Given the description of an element on the screen output the (x, y) to click on. 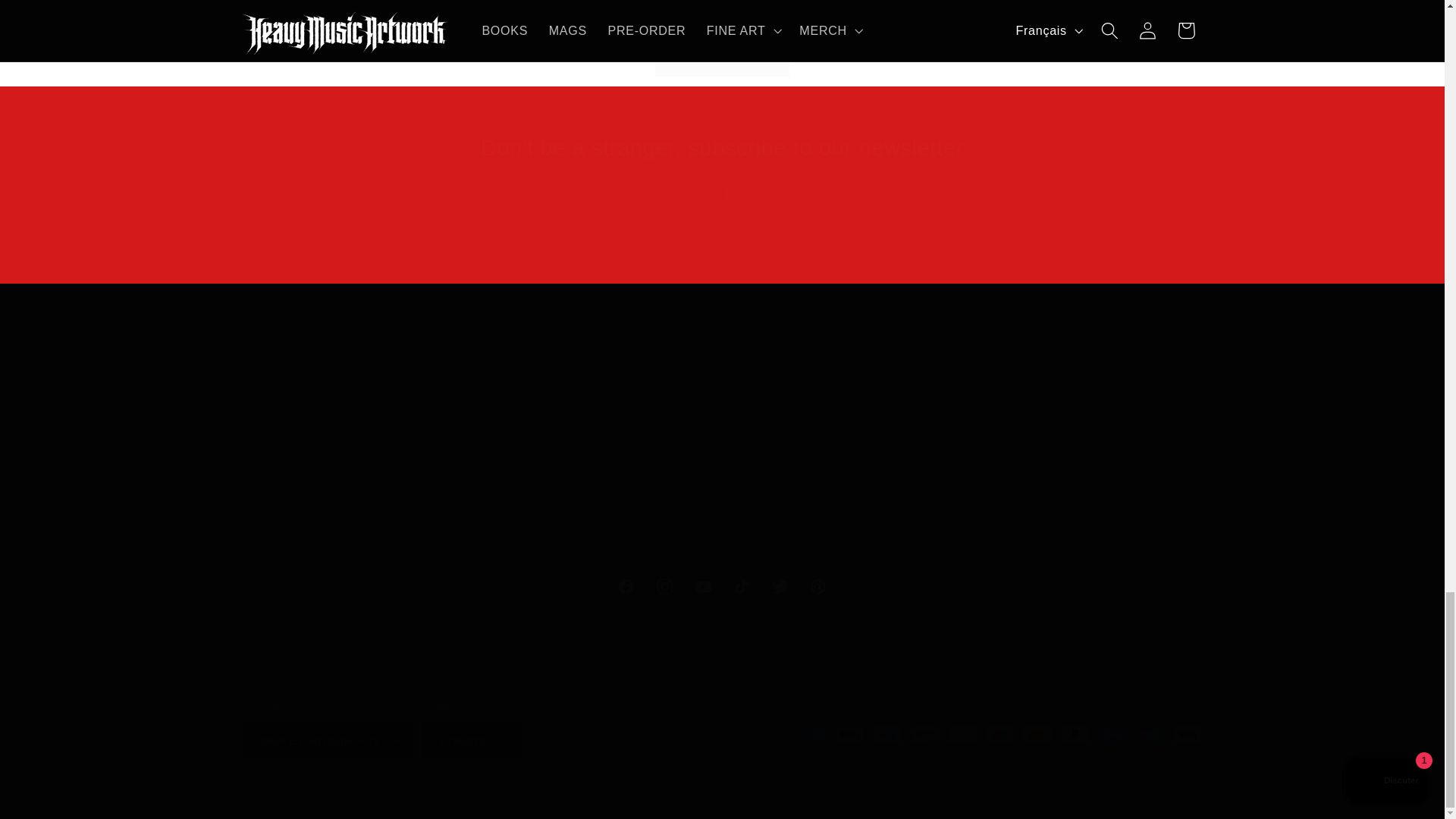
Don't be a stranger, subscribe to our newsletter (722, 148)
E-mail (601, 451)
